Given the description of an element on the screen output the (x, y) to click on. 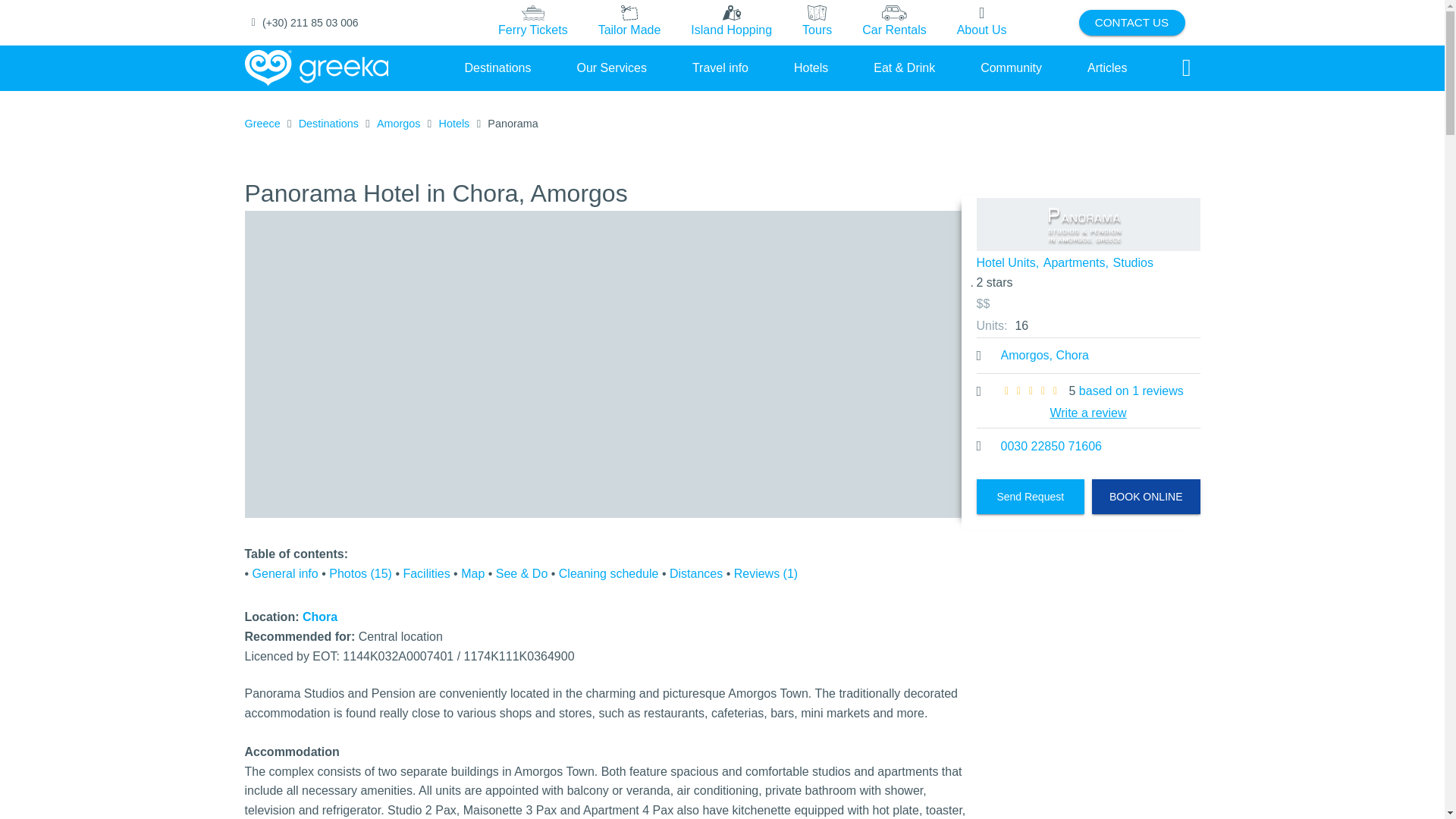
Panorama (1088, 224)
About Us (982, 22)
Tours (817, 22)
Travel Services (611, 67)
Hotels (810, 67)
Send Request (1030, 496)
Amorgos, Chora (1045, 355)
Contact us (1131, 22)
Hotel Units (1087, 401)
